Given the description of an element on the screen output the (x, y) to click on. 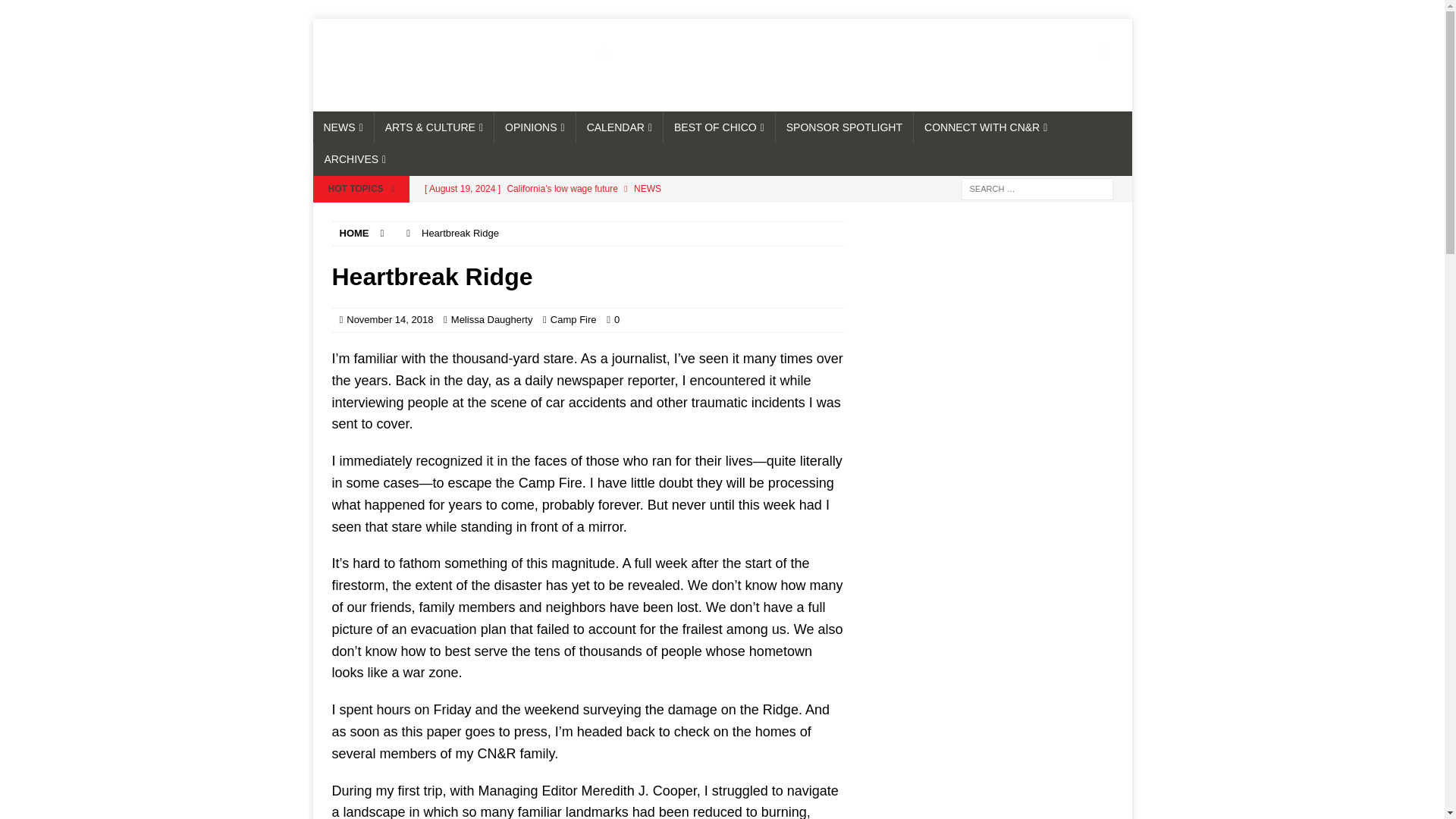
OPINIONS (534, 127)
NEWS (342, 127)
Wildfire mutual aid key to battling California blazes (630, 214)
BEST OF CHICO (718, 127)
CALENDAR (618, 127)
SPONSOR SPOTLIGHT (843, 127)
ARCHIVES (354, 159)
